Given the description of an element on the screen output the (x, y) to click on. 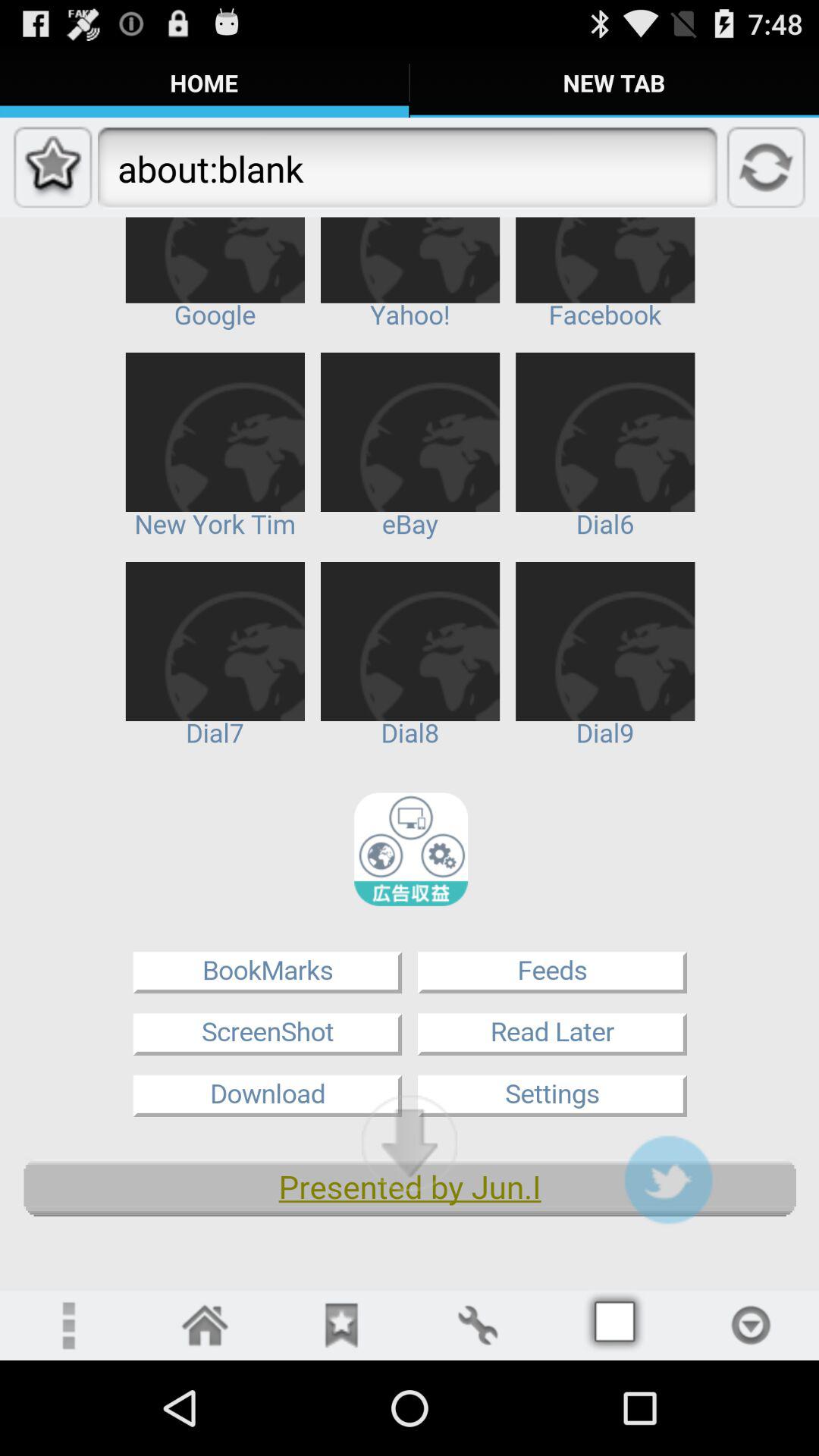
menu with additional options (68, 1325)
